Given the description of an element on the screen output the (x, y) to click on. 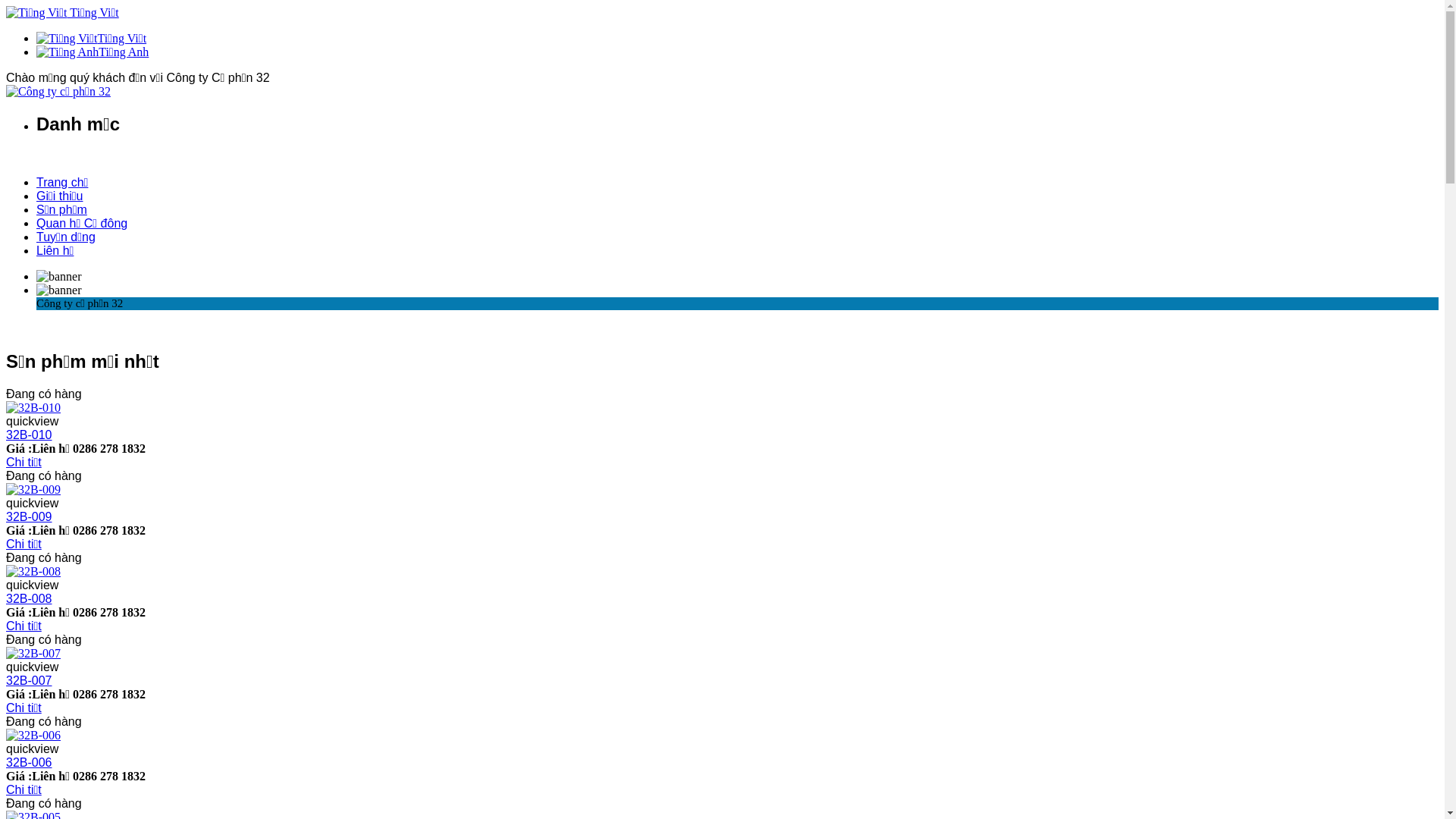
32B-007 Element type: text (29, 680)
quickview Element type: text (32, 748)
32B-007 Element type: hover (33, 652)
32B-009 Element type: text (29, 516)
quickview Element type: text (32, 420)
32B-006 Element type: text (29, 762)
32B-010 Element type: text (29, 434)
32B-008 Element type: text (29, 598)
32B-006 Element type: hover (33, 734)
32B-008 Element type: hover (33, 570)
32B-010 Element type: hover (33, 407)
quickview Element type: text (32, 666)
quickview Element type: text (32, 584)
32B-009 Element type: hover (33, 489)
quickview Element type: text (32, 502)
